Given the description of an element on the screen output the (x, y) to click on. 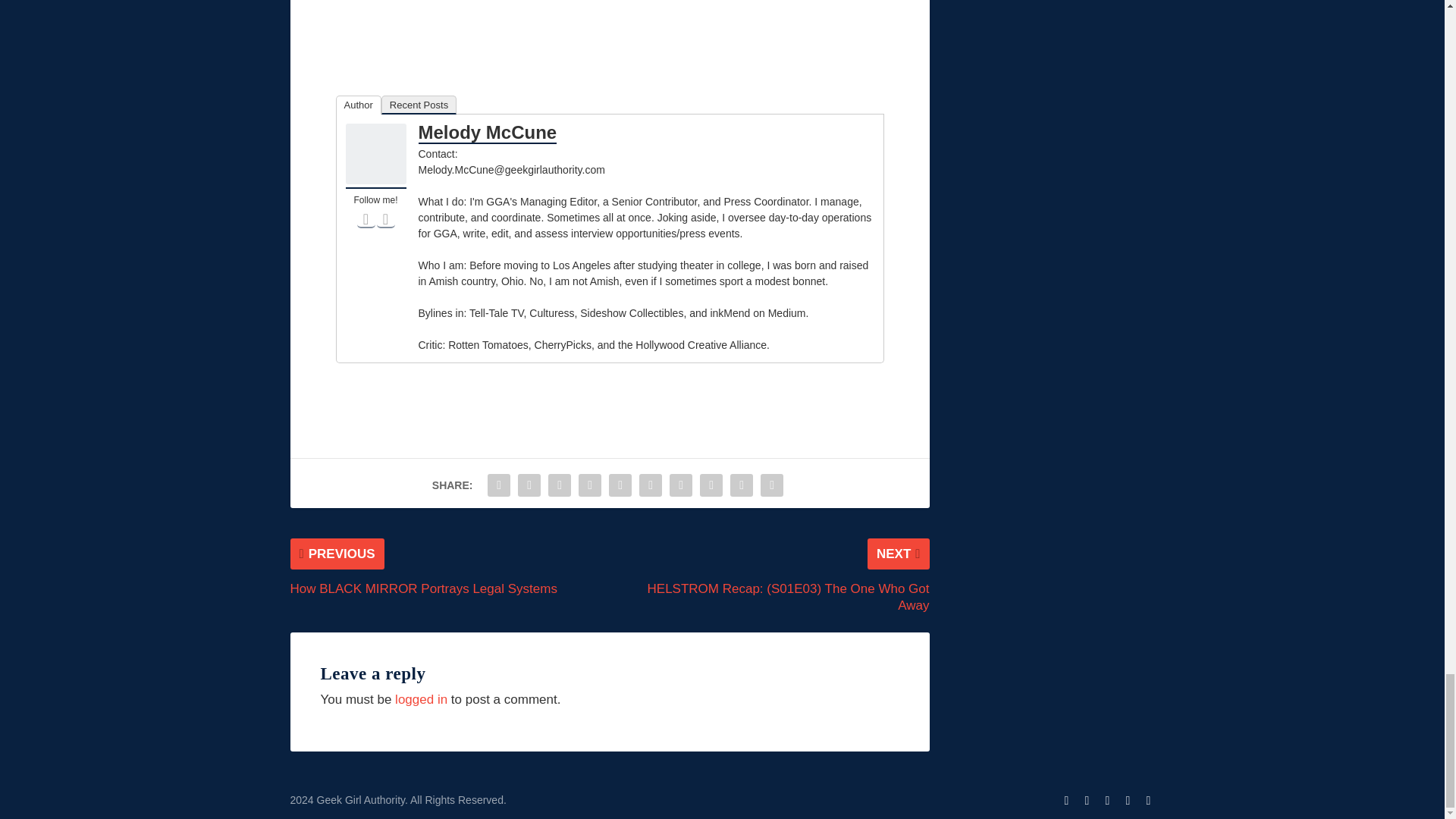
Facebook (365, 218)
Twitter (384, 218)
Melody McCune (376, 180)
